Given the description of an element on the screen output the (x, y) to click on. 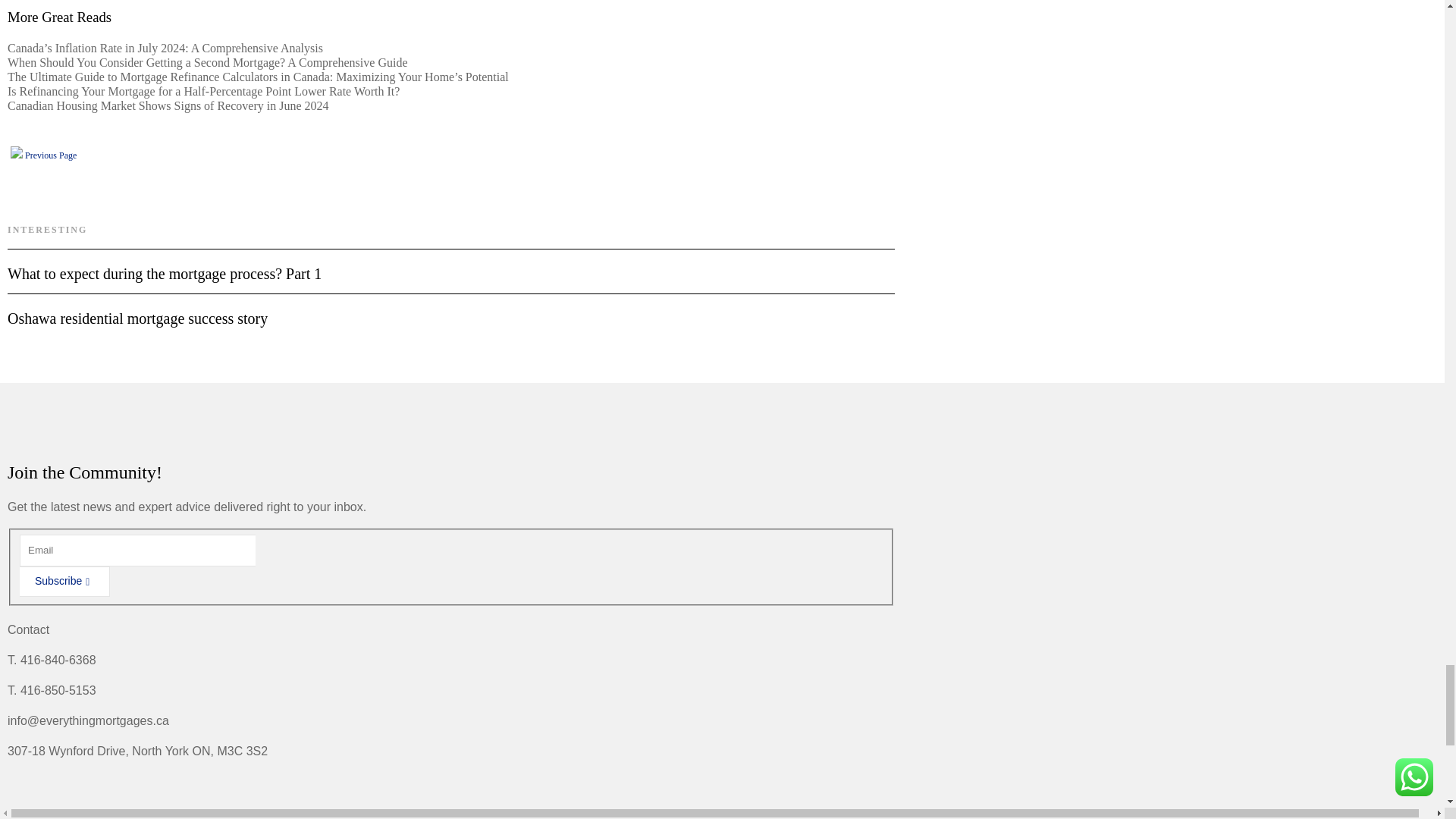
Canadian Housing Market Shows Signs of Recovery in June 2024 (168, 105)
What to expect during the mortgage process? Part 1 (451, 265)
Oshawa residential mortgage success story (451, 310)
Subscribe (65, 581)
Previous Page (43, 154)
